Given the description of an element on the screen output the (x, y) to click on. 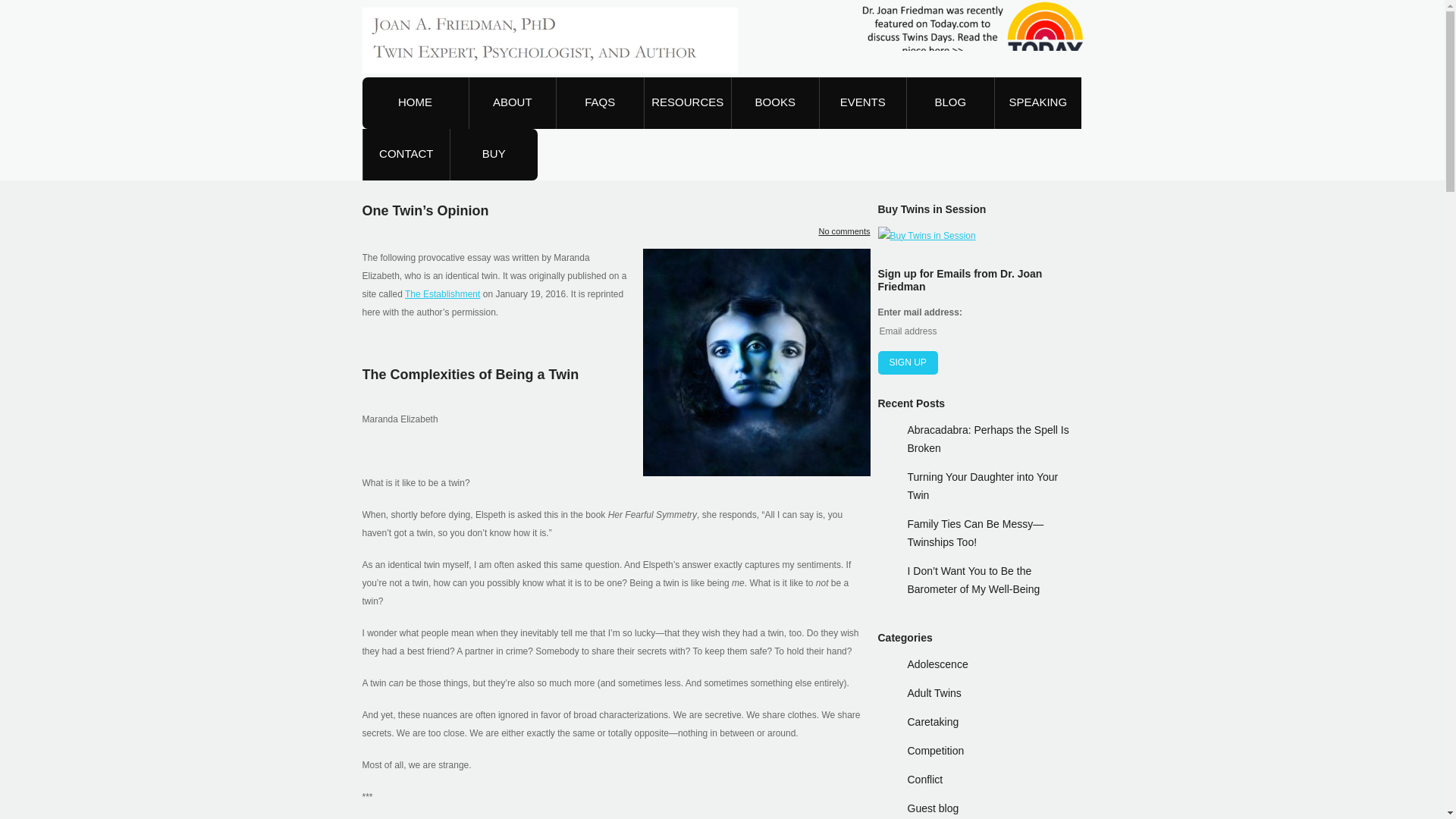
EVENTS (861, 102)
HOME (415, 102)
ABOUT (512, 102)
CONTACT (405, 154)
BOOKS (775, 102)
BLOG (950, 102)
BUY (493, 154)
The Establishment (442, 294)
Sign up (907, 362)
No comments (843, 230)
